Given the description of an element on the screen output the (x, y) to click on. 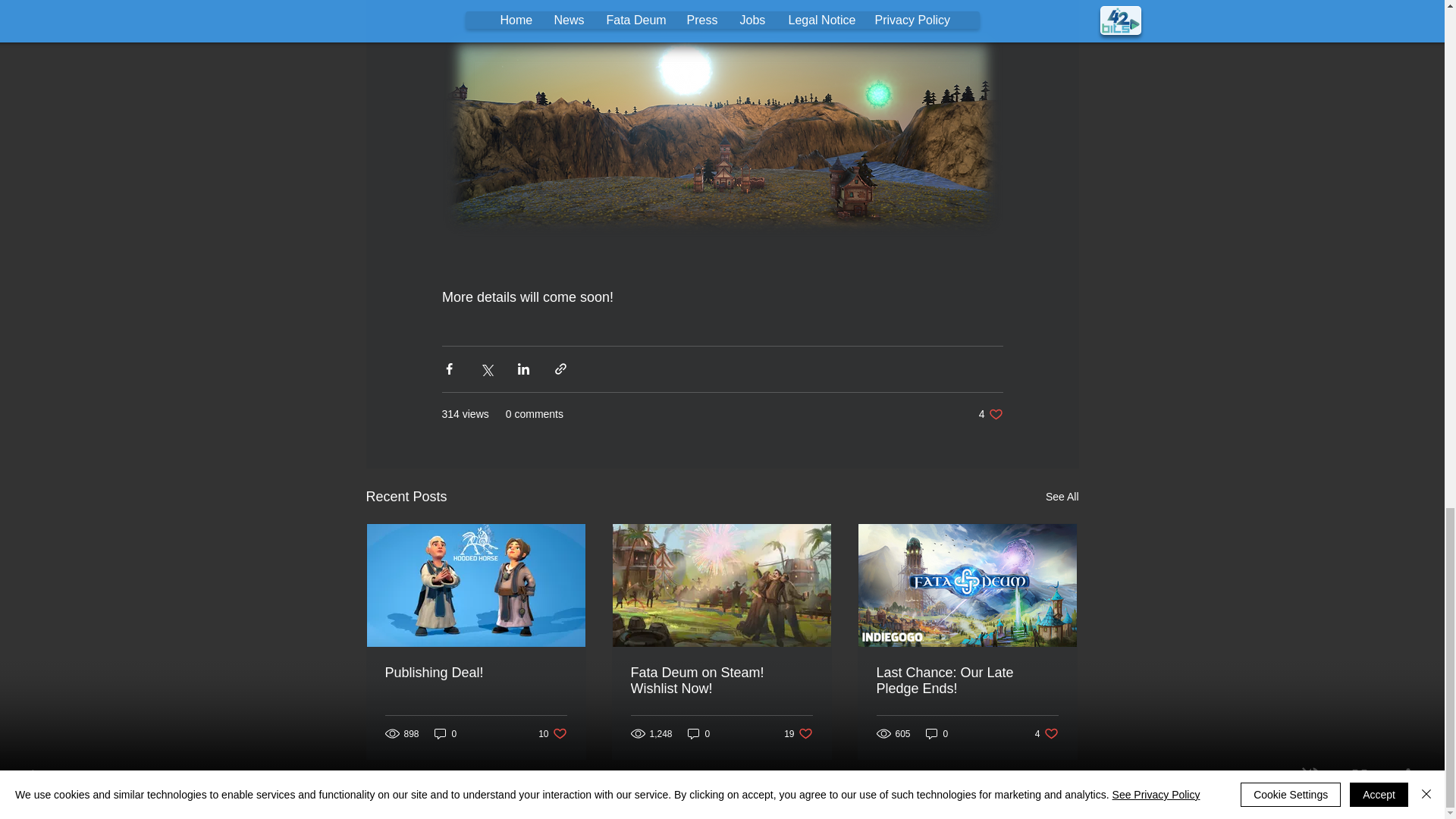
0 (798, 733)
Fata Deum on Steam! Wishlist Now! (1046, 733)
Legal Notice (445, 733)
Last Chance: Our Late Pledge Ends! (721, 680)
See All (552, 733)
0 (721, 808)
